Given the description of an element on the screen output the (x, y) to click on. 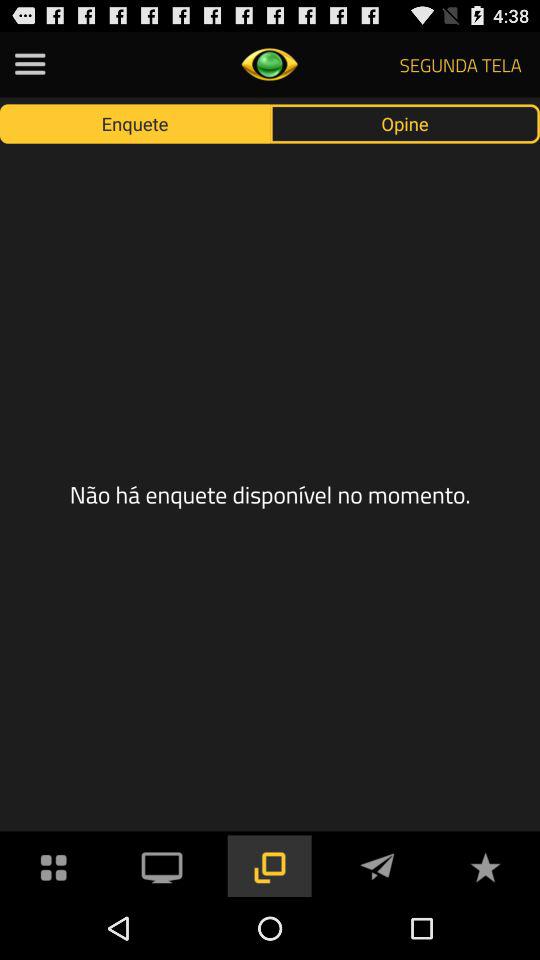
jump until the opine button (405, 123)
